Given the description of an element on the screen output the (x, y) to click on. 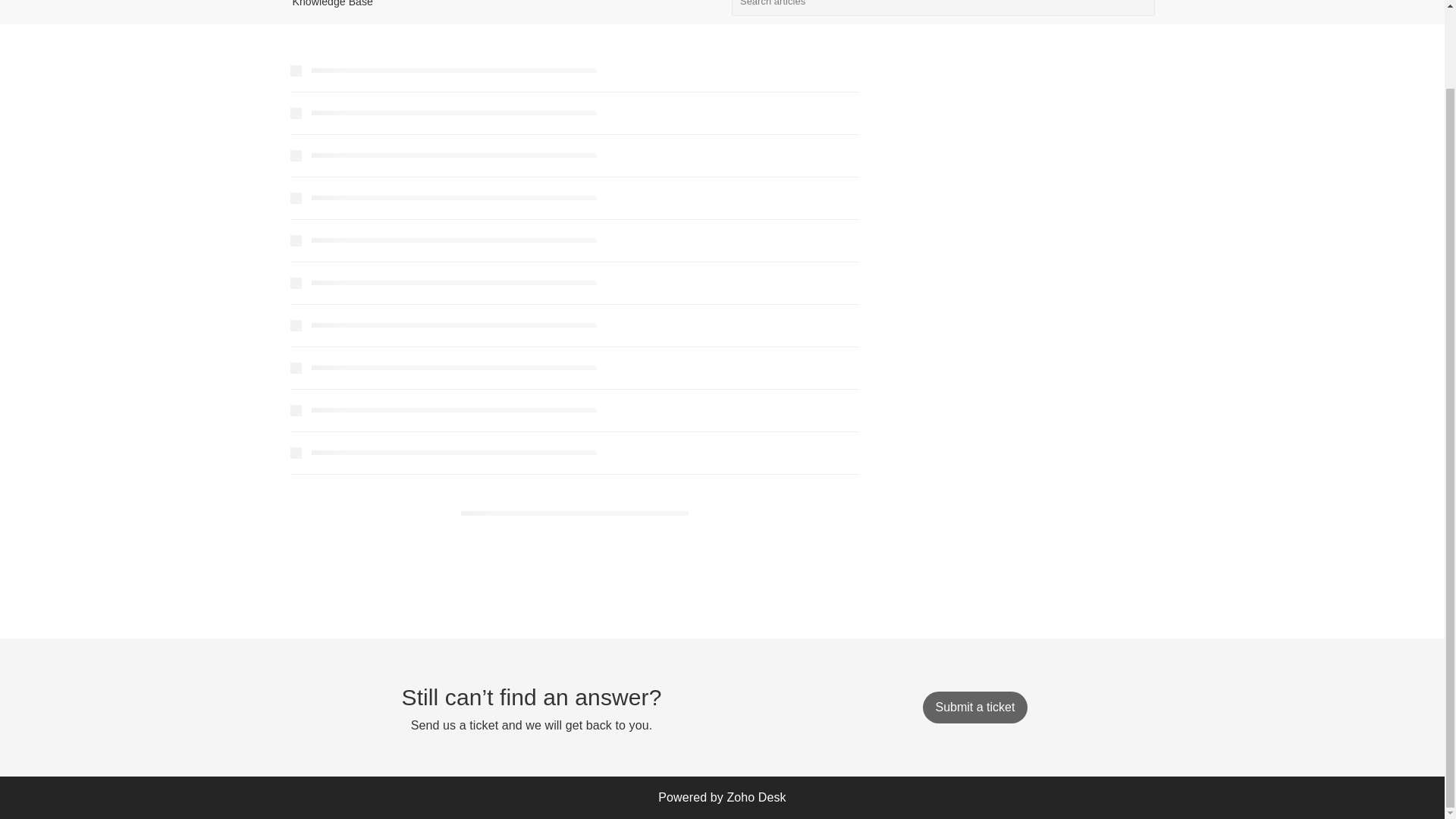
Zoho Desk (756, 797)
Knowledge Base (332, 3)
Submit a ticket (974, 707)
Submit a ticket (974, 707)
